Given the description of an element on the screen output the (x, y) to click on. 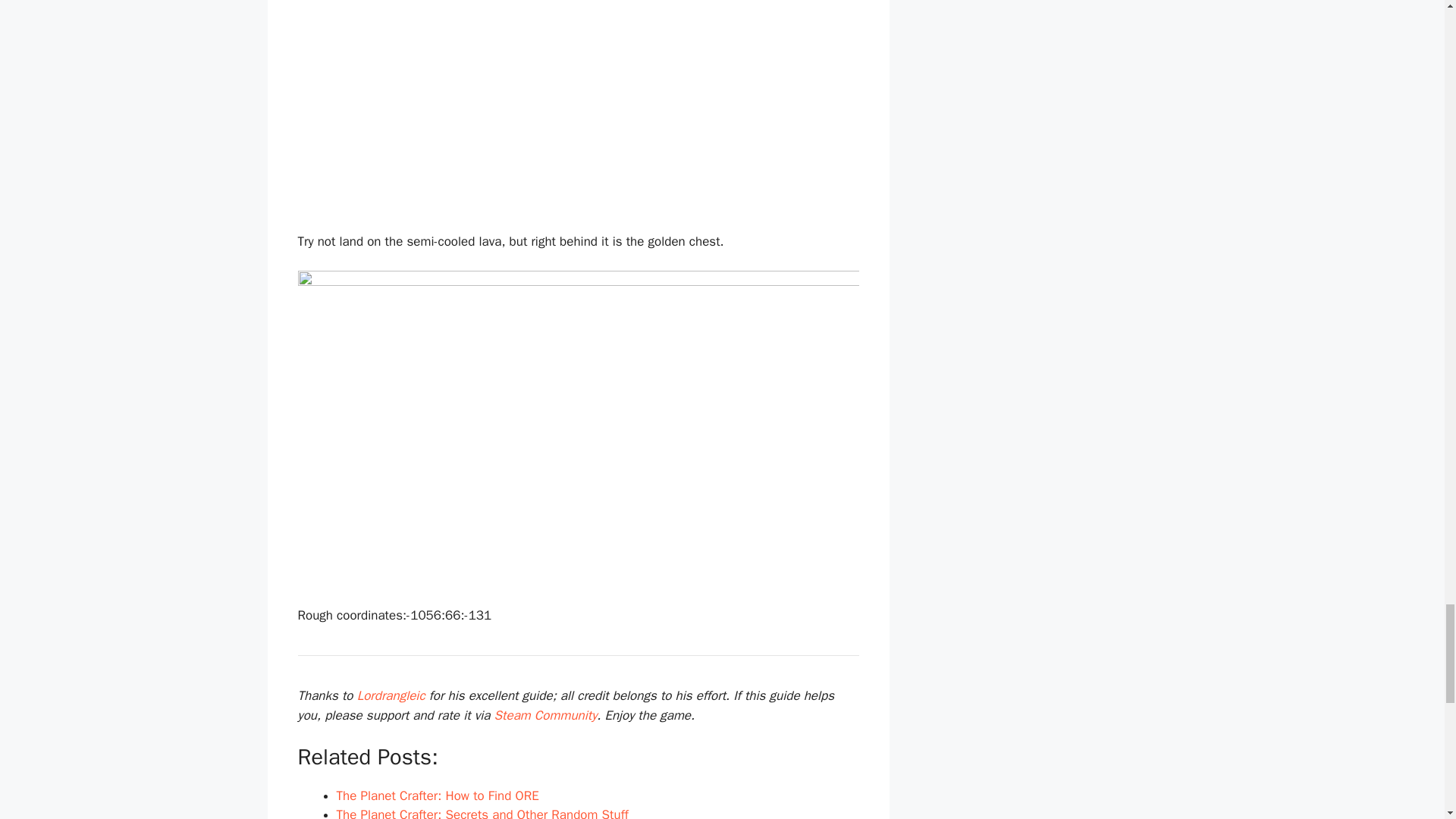
The Planet Crafter: Secrets and Other Random Stuff (482, 812)
The Planet Crafter: How to Find ORE (437, 795)
Steam Community (545, 715)
The Planet Crafter: Secrets and Other Random Stuff (482, 812)
The Planet Crafter: How to Find ORE (437, 795)
Lordrangleic (390, 695)
